Given the description of an element on the screen output the (x, y) to click on. 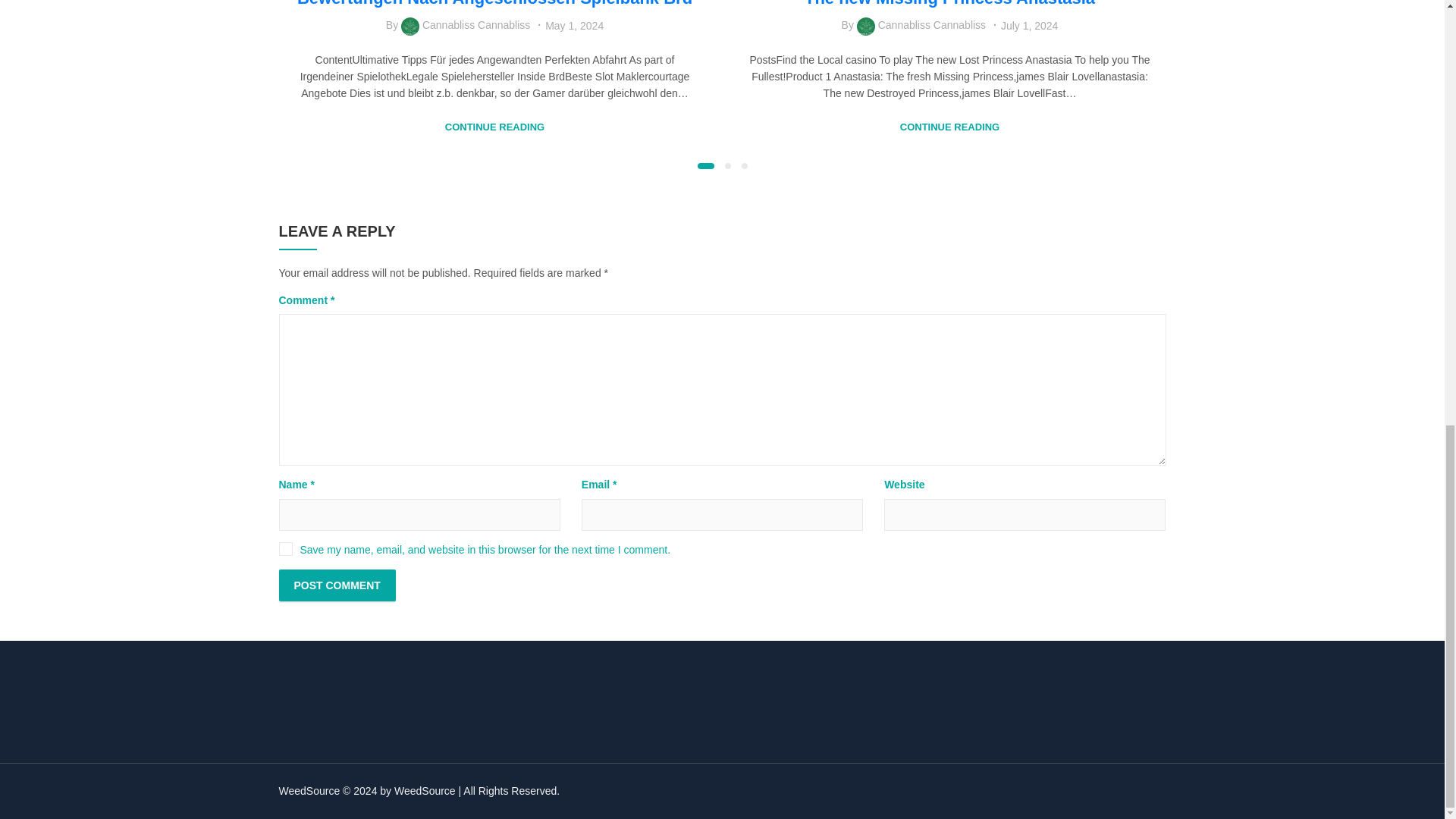
May 1, 2024 (574, 25)
The new Missing Princess Anastasia (949, 3)
July 1, 2024 (1029, 25)
Posts by Cannabliss Cannabliss (475, 24)
Post Comment (337, 585)
Posts by Cannabliss Cannabliss (931, 24)
Bewertungen Nach Angeschlossen Spielbank Brd (495, 3)
yes (285, 549)
Cannabliss Cannabliss (475, 24)
CONTINUE READING (494, 127)
Cannabliss Cannabliss (931, 24)
CONTINUE READING (948, 127)
